Given the description of an element on the screen output the (x, y) to click on. 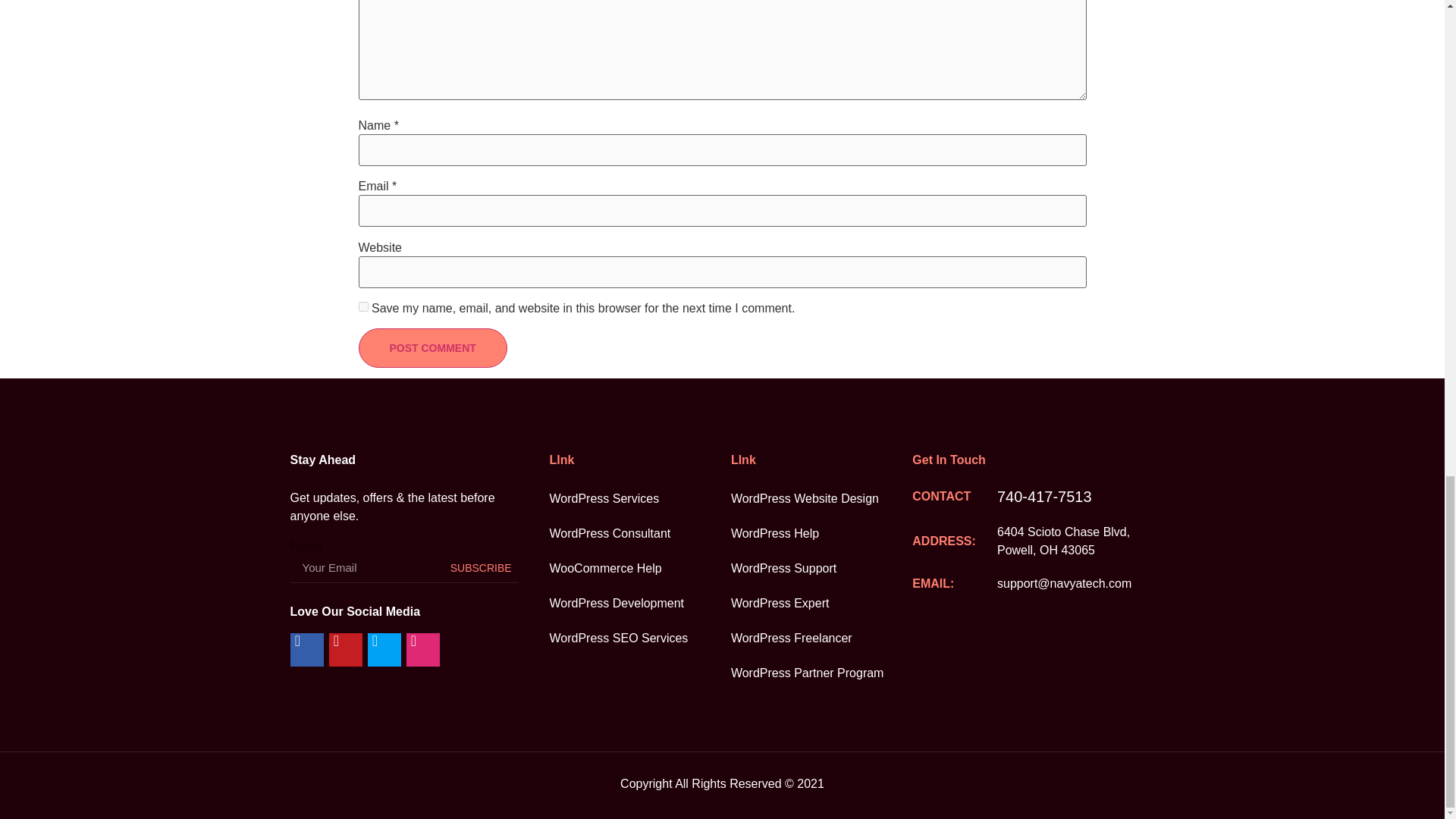
WooCommerce Help (639, 568)
SUBSCRIBE (480, 567)
WordPress Partner Program (821, 673)
Post Comment (432, 347)
WordPress Support (821, 568)
yes (363, 307)
WordPress Freelancer (821, 638)
Post Comment (432, 347)
WordPress Consultant (639, 533)
WordPress Services (639, 498)
